Given the description of an element on the screen output the (x, y) to click on. 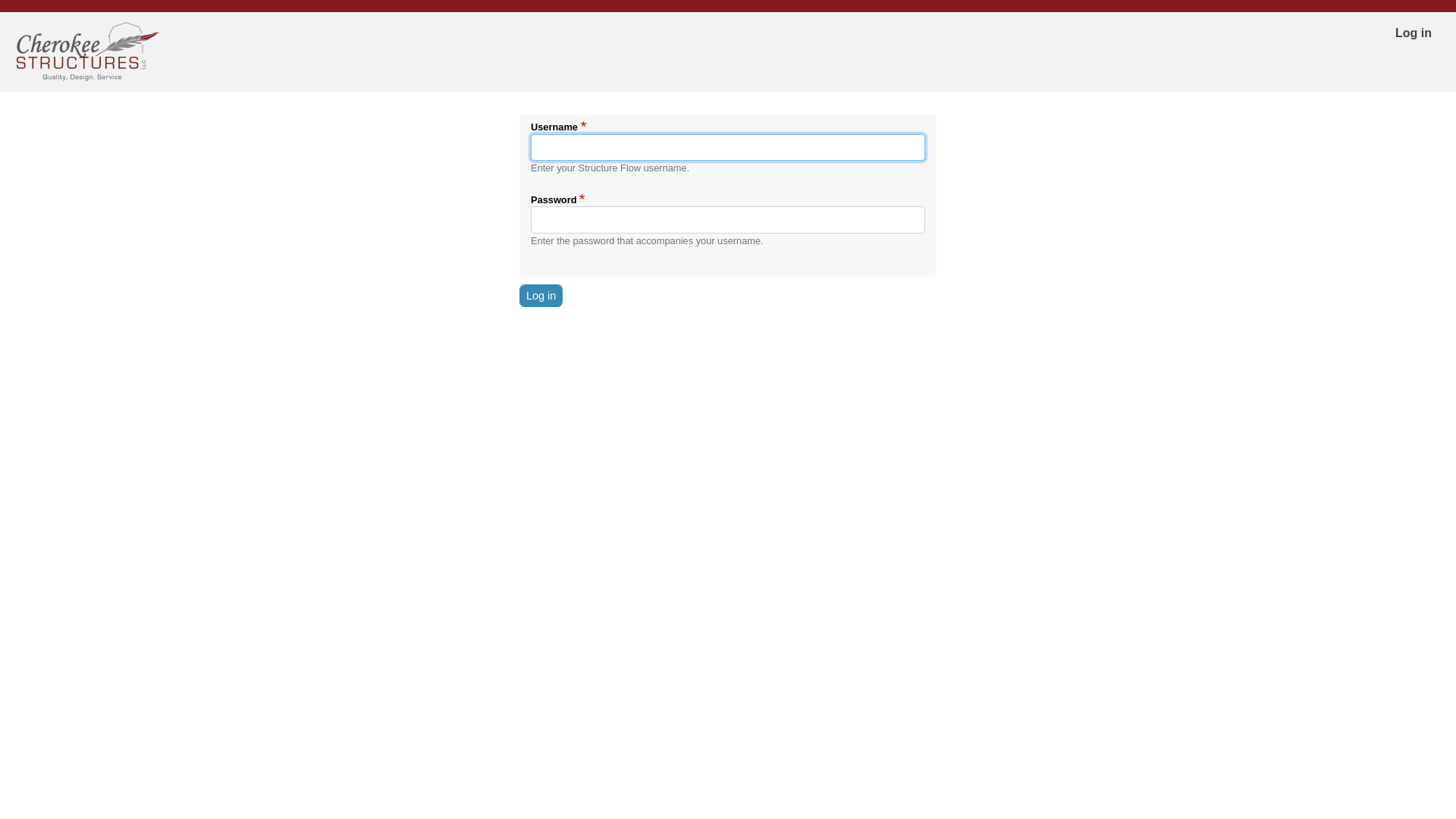
Log in Element type: text (540, 295)
Skip to main content Element type: text (727, 1)
Log in Element type: text (1413, 33)
